Given the description of an element on the screen output the (x, y) to click on. 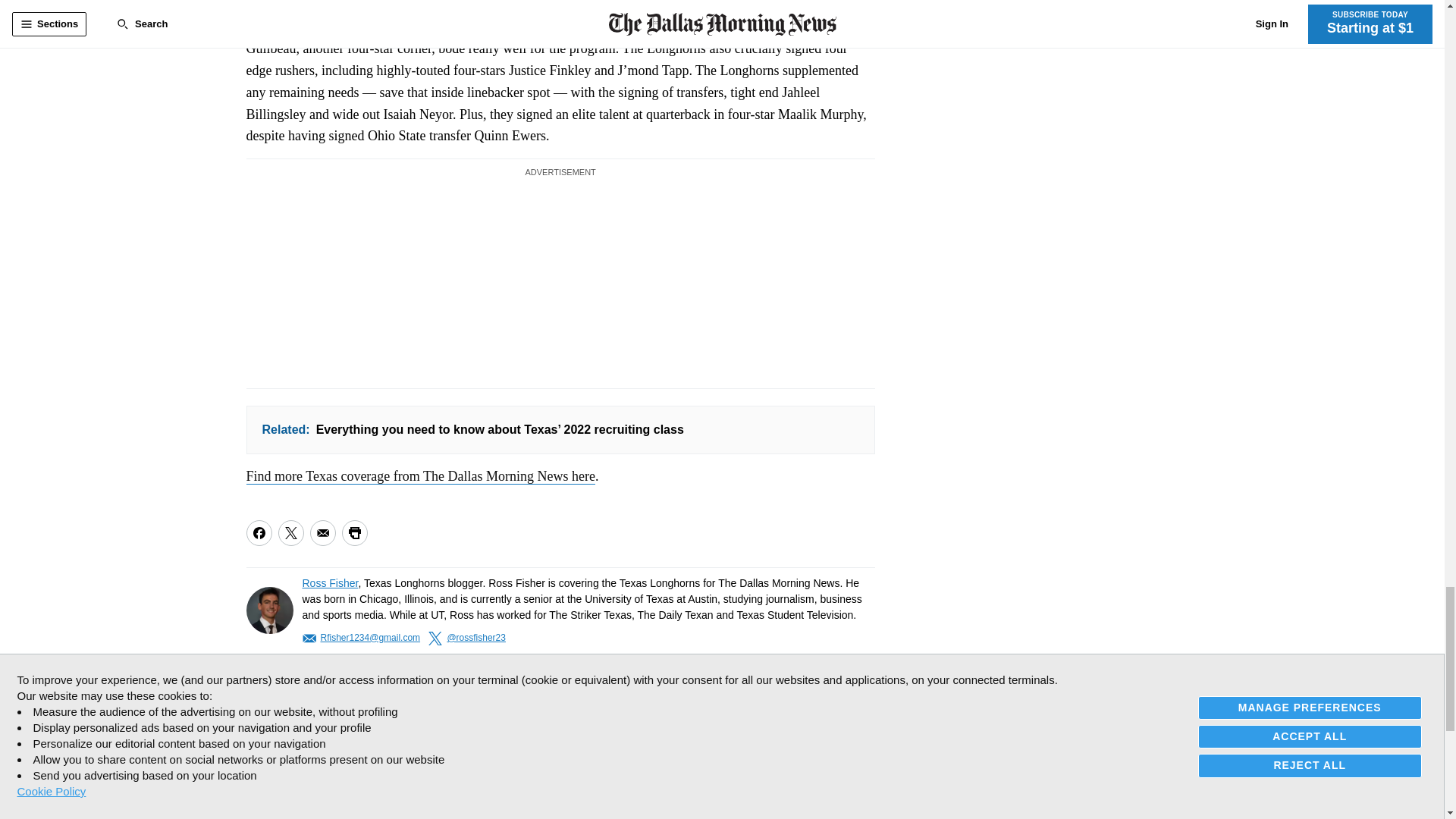
Print (353, 533)
Share on Facebook (258, 533)
Share via Email (321, 533)
Share on Twitter (290, 533)
